Given the description of an element on the screen output the (x, y) to click on. 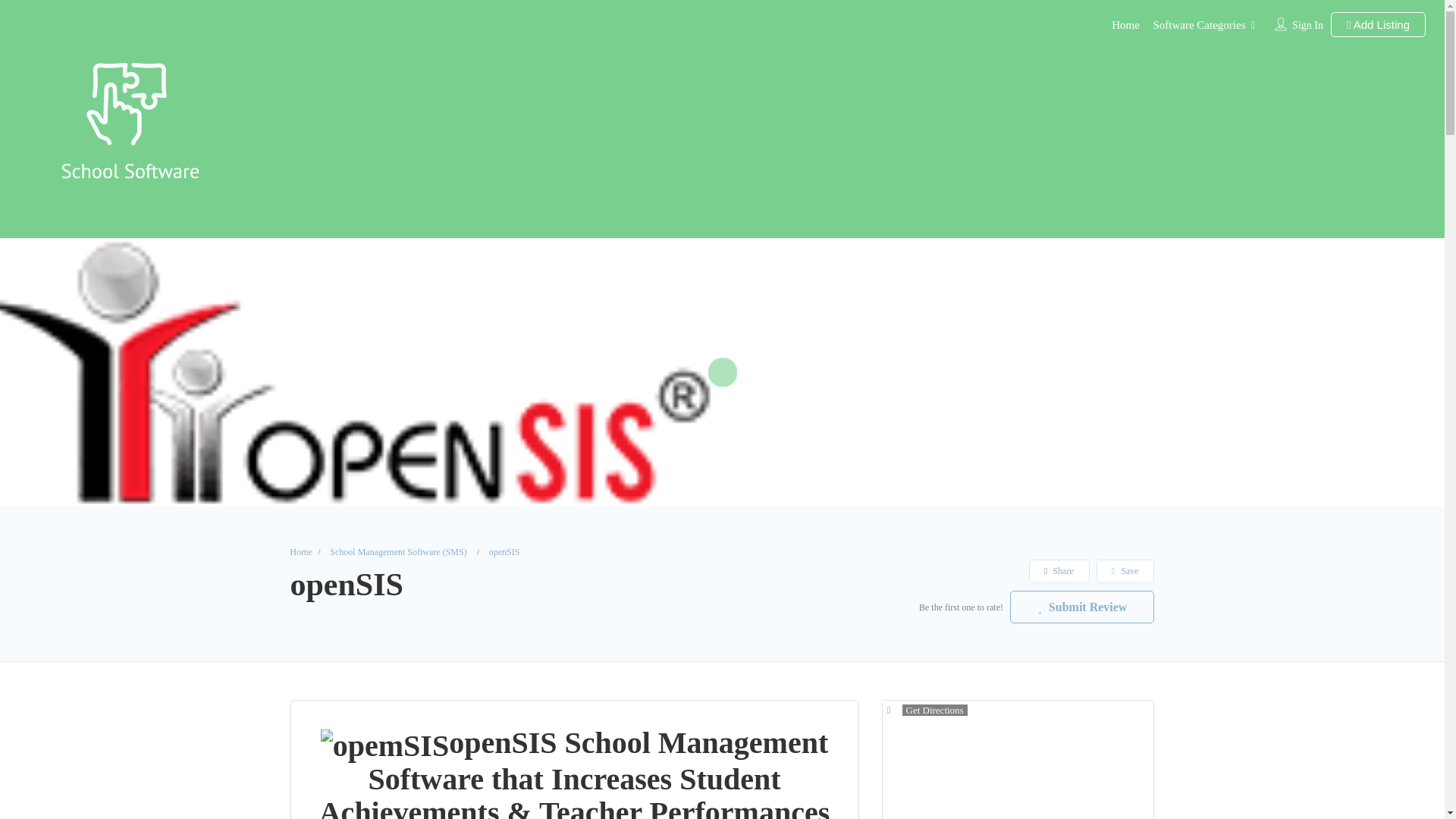
Save (1125, 571)
Home (300, 552)
Share (1058, 571)
Submit (413, 502)
openSIS 35 Schoolsoftware Australia (384, 745)
Sign In (1307, 25)
Home (1126, 24)
Software Categories (1198, 24)
Add Listing (1377, 24)
